Given the description of an element on the screen output the (x, y) to click on. 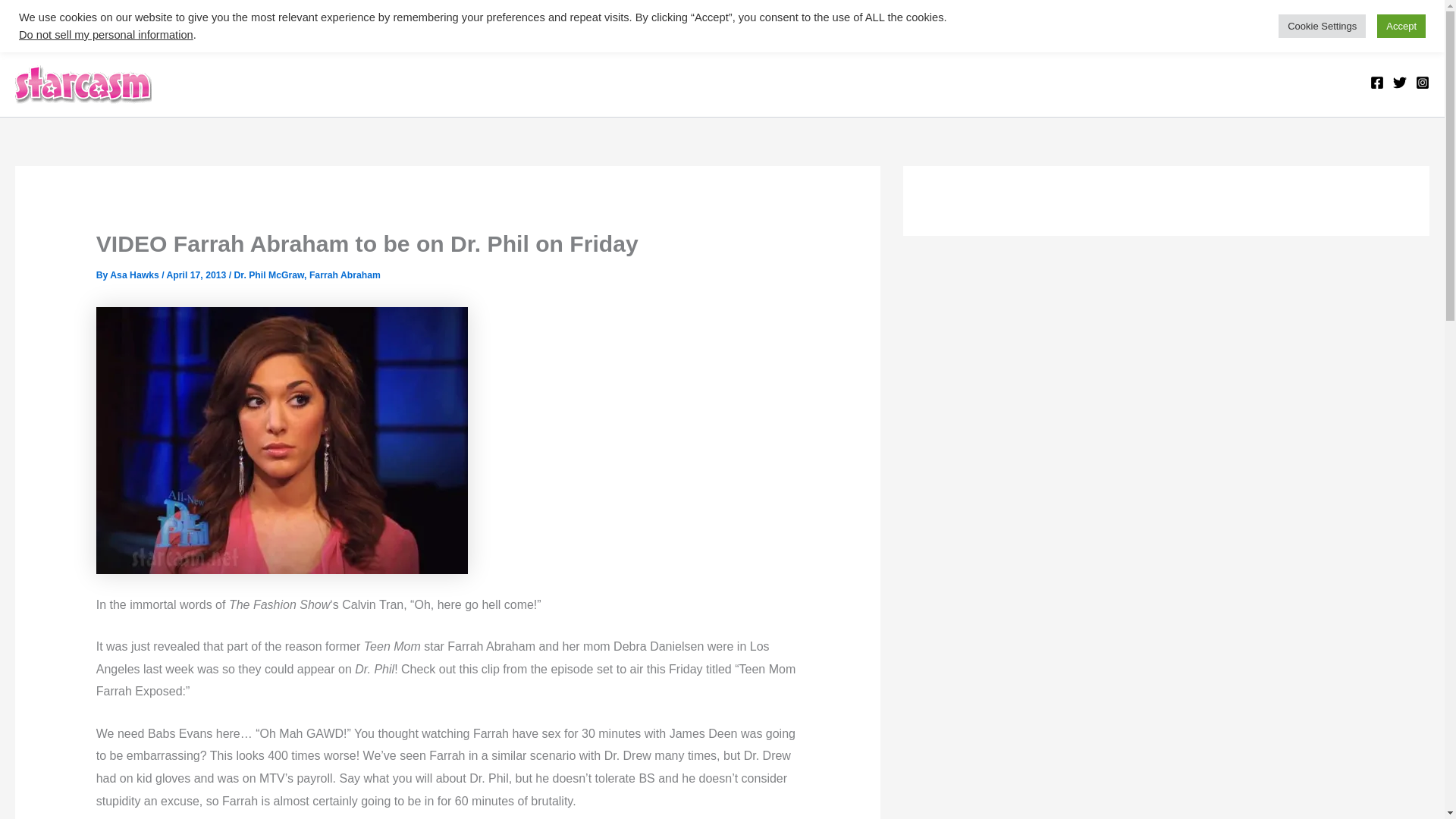
Search Button (1415, 31)
Farrah Abraham Dr. Phil (281, 440)
Home (188, 22)
TOP CATEGORIES (87, 22)
Dr. Phil McGraw (269, 275)
Farrah Abraham (344, 275)
Asa Hawks (135, 275)
View all posts by Asa Hawks (135, 275)
